Given the description of an element on the screen output the (x, y) to click on. 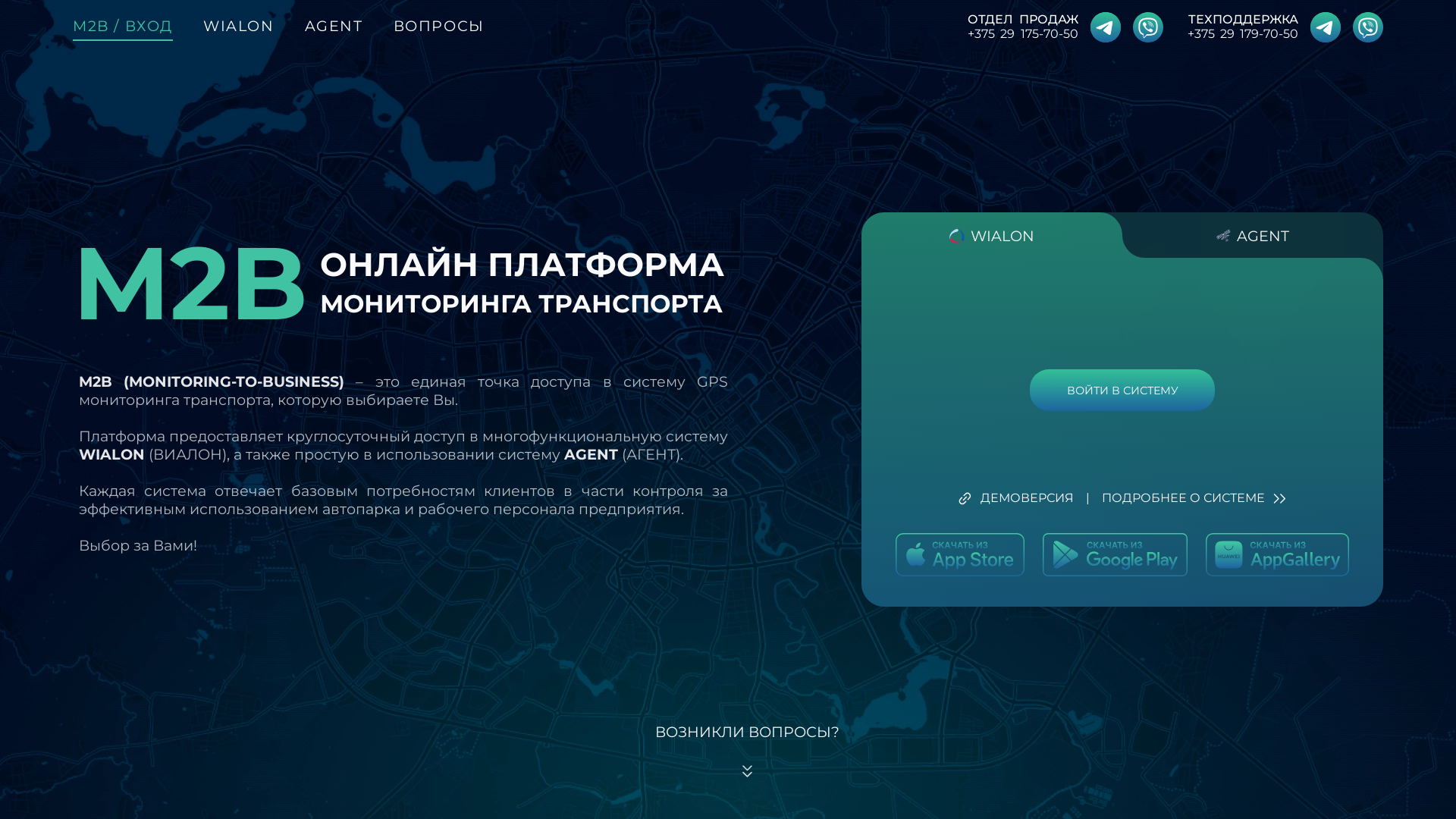
WIALON Element type: text (238, 28)
+375 29 175-70-50 Element type: text (1022, 33)
AGENT Element type: text (333, 28)
+375 29 179-70-50 Element type: text (1242, 33)
